Given the description of an element on the screen output the (x, y) to click on. 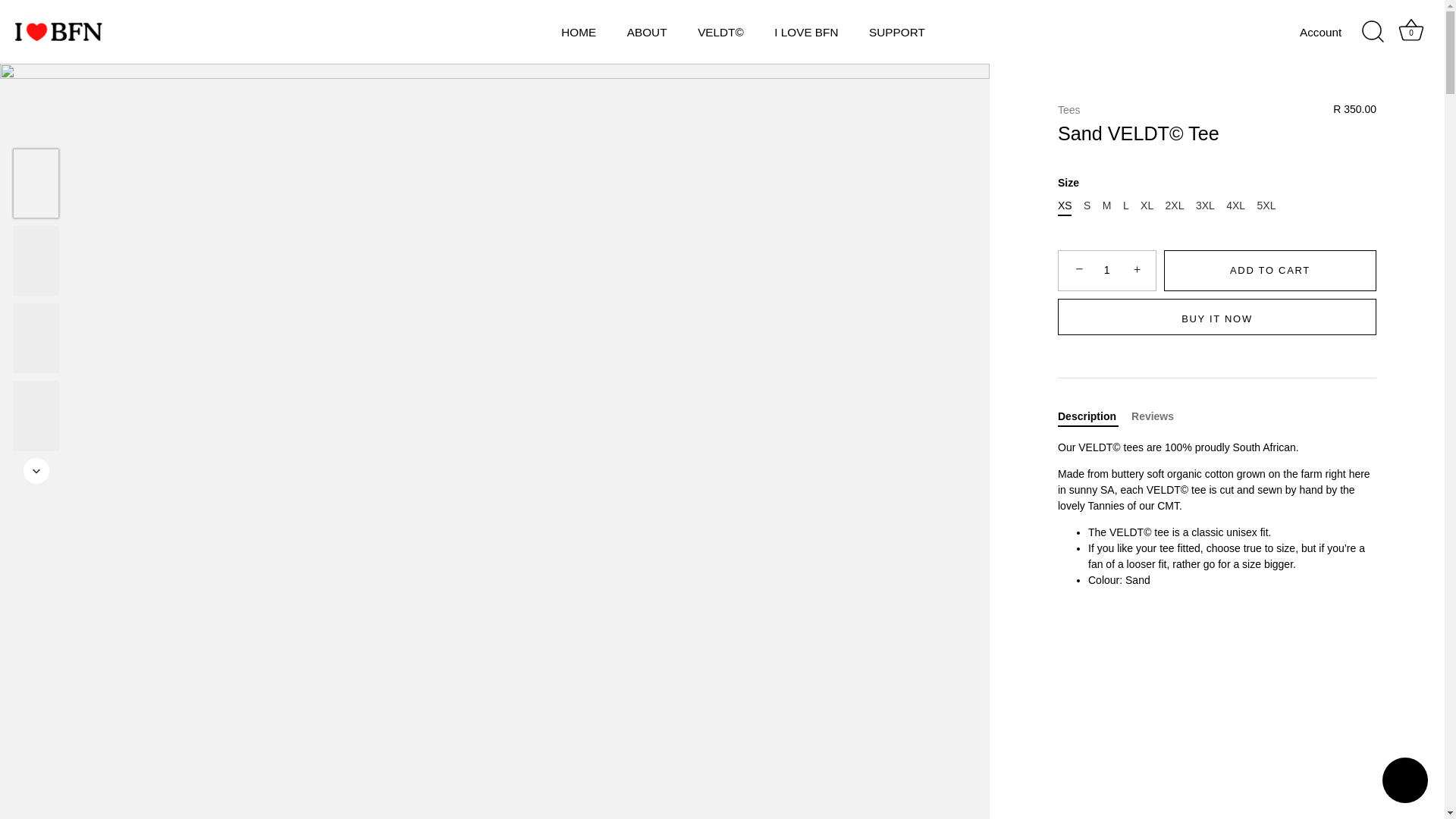
SUPPORT (897, 31)
HOME (578, 31)
Account (1334, 32)
I LOVE BFN (805, 31)
Basket (1410, 30)
Shopify online store chat (1411, 31)
ABOUT (1404, 781)
